Given the description of an element on the screen output the (x, y) to click on. 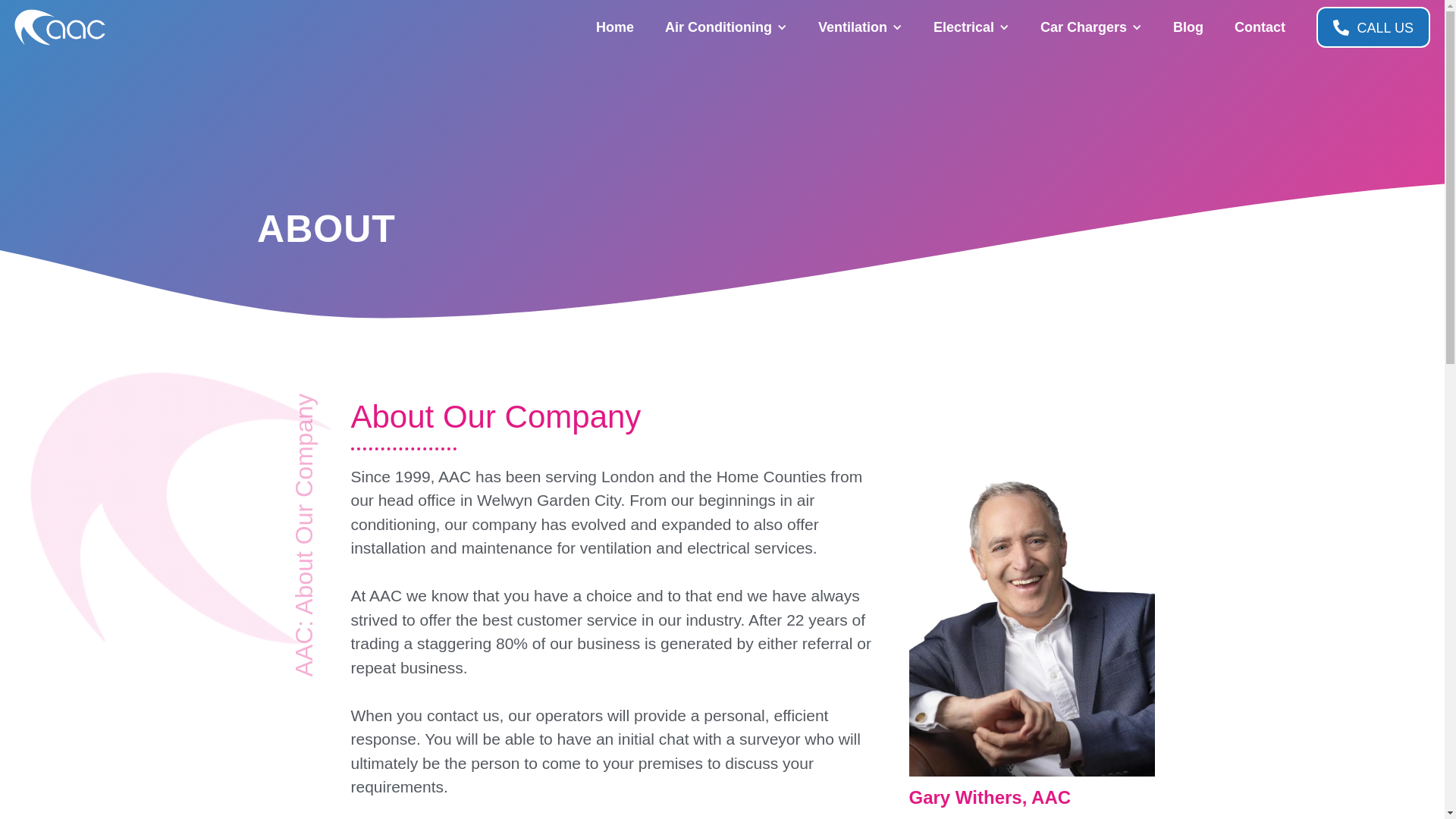
Contact (1259, 27)
Ventilation (852, 27)
Home (615, 27)
Blog (1188, 27)
Electrical (963, 27)
Car Chargers (1083, 27)
CALL US (1372, 26)
Air Conditioning (718, 27)
